Given the description of an element on the screen output the (x, y) to click on. 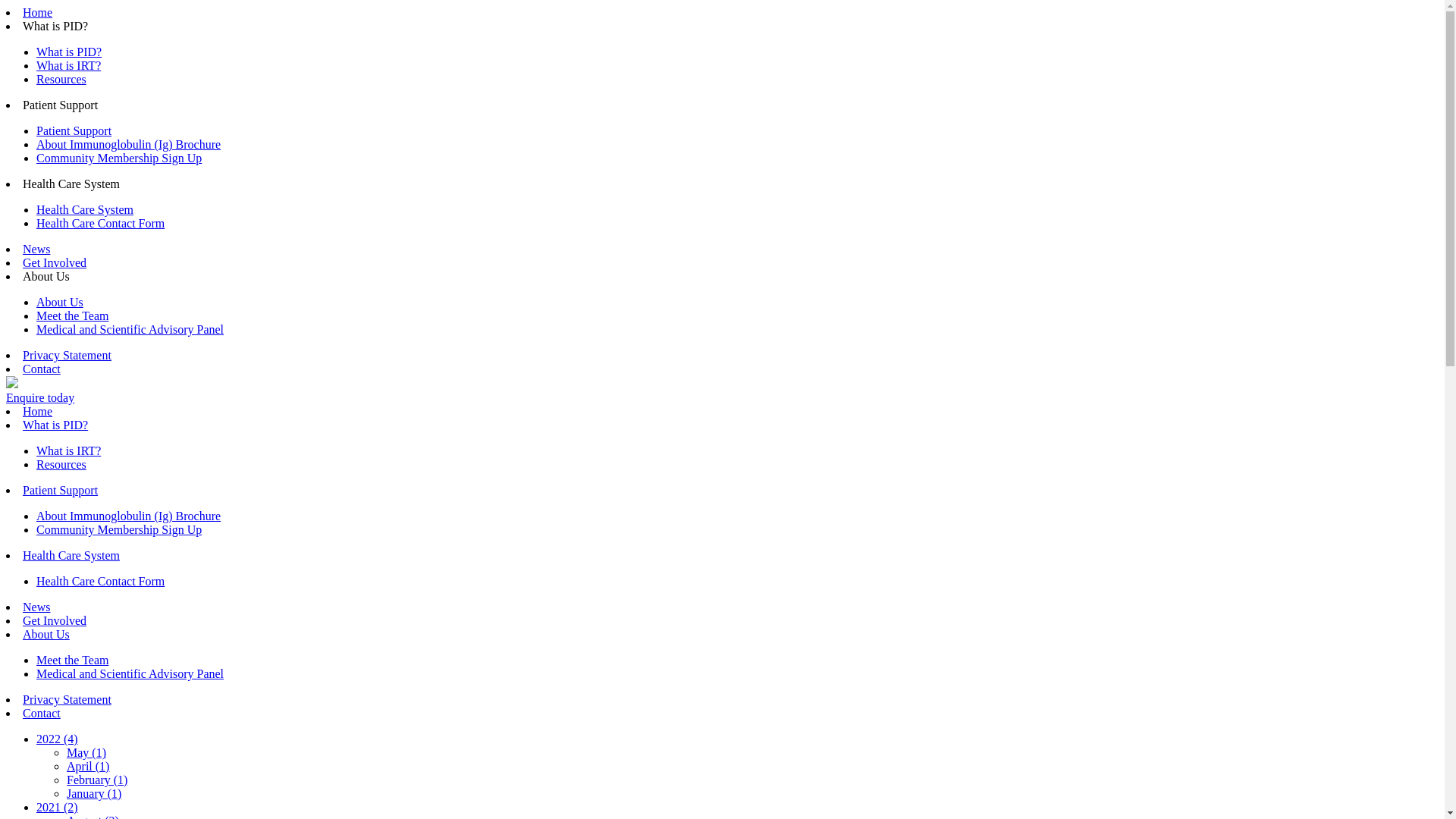
Contact Element type: text (41, 712)
Health Care System Element type: text (84, 209)
January (1) Element type: text (93, 793)
Home Element type: text (37, 12)
What is IRT? Element type: text (68, 450)
What is IRT? Element type: text (68, 65)
Health Care Contact Form Element type: text (100, 580)
Medical and Scientific Advisory Panel Element type: text (129, 329)
April (1) Element type: text (87, 765)
Patient Support Element type: text (73, 130)
Privacy Statement Element type: text (66, 699)
Get Involved Element type: text (54, 620)
What is PID? Element type: text (54, 424)
Meet the Team Element type: text (72, 659)
Community Membership Sign Up Element type: text (118, 157)
Health Care Contact Form Element type: text (100, 222)
Get Involved Element type: text (54, 262)
Community Membership Sign Up Element type: text (118, 529)
Medical and Scientific Advisory Panel Element type: text (129, 673)
February (1) Element type: text (96, 779)
News Element type: text (36, 248)
May (1) Element type: text (86, 752)
2022 (4) Element type: text (57, 738)
About Us Element type: text (59, 301)
Health Care System Element type: text (70, 555)
Privacy Statement Element type: text (66, 354)
2021 (2) Element type: text (57, 806)
What is PID? Element type: text (68, 51)
About Immunoglobulin (Ig) Brochure Element type: text (128, 144)
Contact Element type: text (41, 368)
Resources Element type: text (61, 78)
Patient Support Element type: text (59, 489)
Resources Element type: text (61, 464)
About Immunoglobulin (Ig) Brochure Element type: text (128, 515)
About Us Element type: text (45, 633)
Enquire today Element type: text (40, 397)
Meet the Team Element type: text (72, 315)
Home Element type: text (37, 410)
News Element type: text (36, 606)
